Given the description of an element on the screen output the (x, y) to click on. 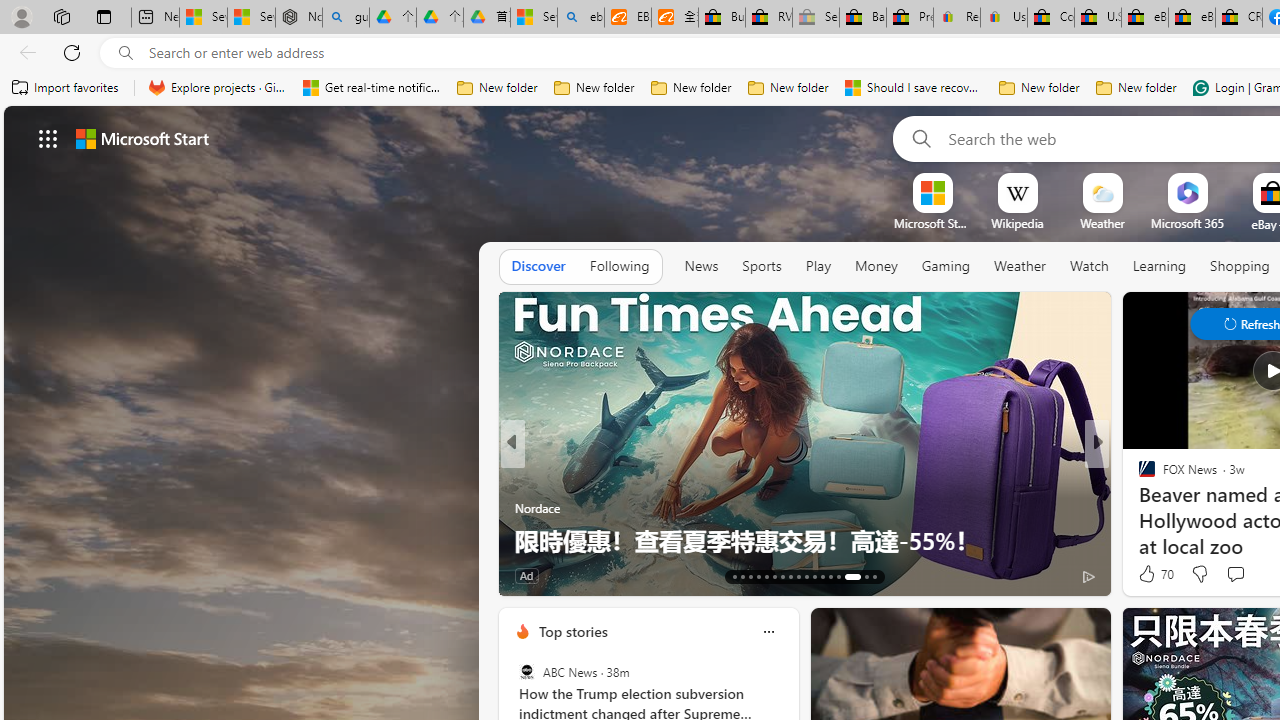
Import favorites (65, 88)
AutomationID: tab-32 (838, 576)
Should I save recovered Word documents? - Microsoft Support (913, 88)
Shopping (1240, 265)
Weather (1020, 265)
AutomationID: tab-21 (797, 576)
Money (876, 267)
Consumer Health Data Privacy Policy - eBay Inc. (1050, 17)
Top stories (572, 631)
Class: icon-img (768, 632)
